Given the description of an element on the screen output the (x, y) to click on. 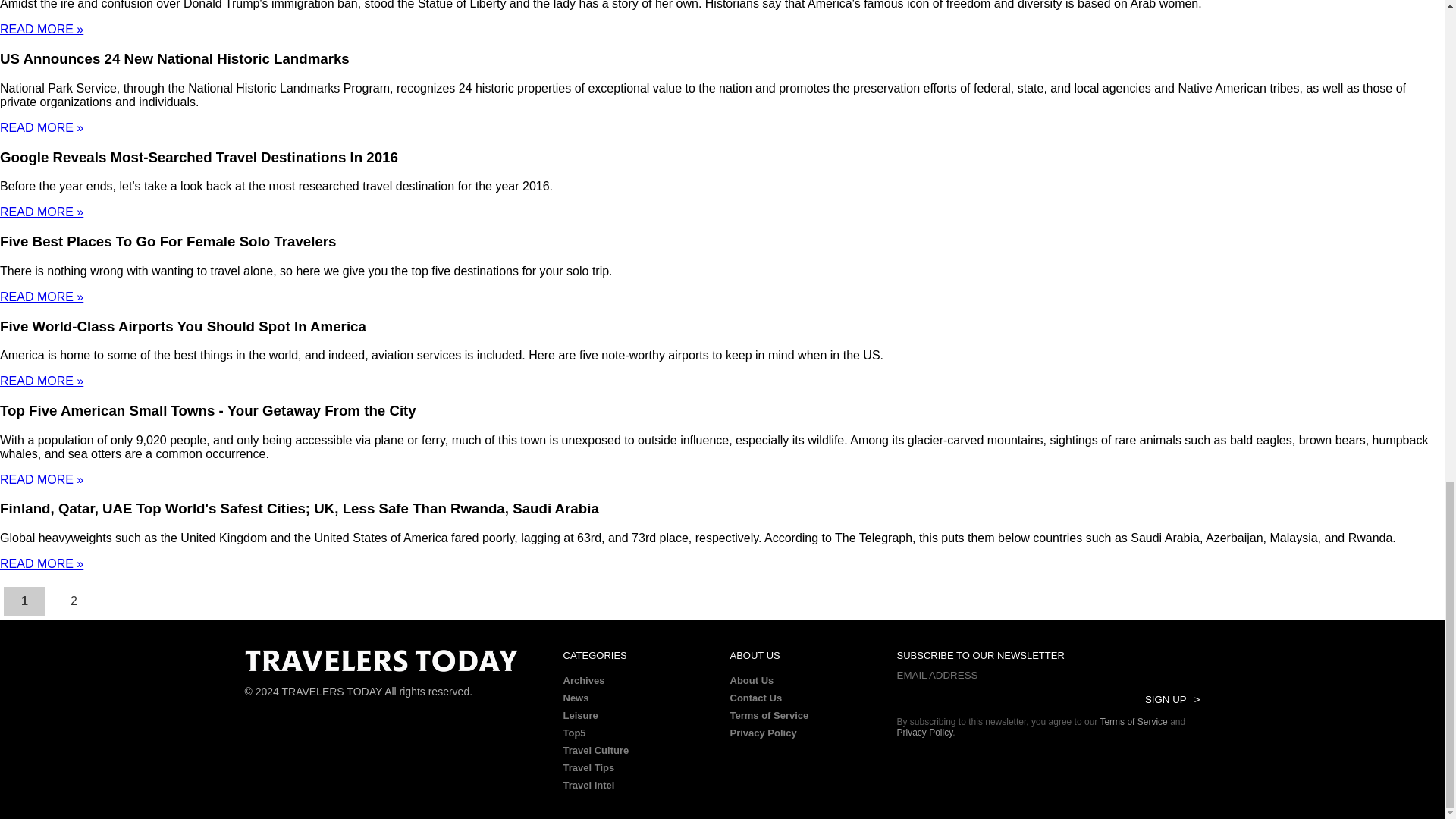
Five Best Places To Go For Female Solo Travelers (168, 241)
Google Reveals Most-Searched Travel Destinations In 2016 (198, 157)
US Announces 24 New National Historic Landmarks (174, 58)
